Given the description of an element on the screen output the (x, y) to click on. 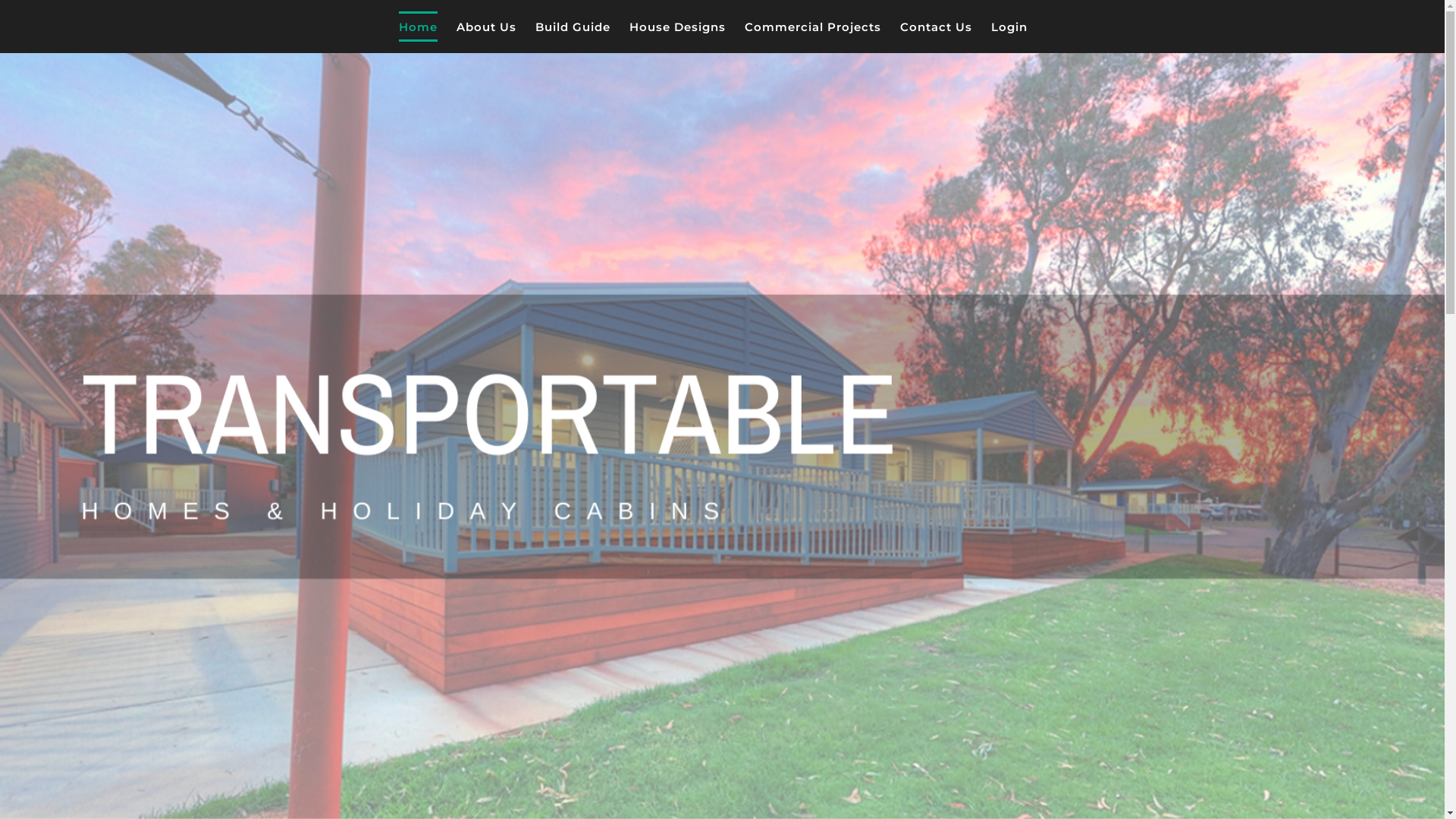
Login Element type: text (1008, 26)
Build Guide Element type: text (572, 26)
About Us Element type: text (486, 26)
Contact Us Element type: text (935, 26)
Home Element type: text (417, 26)
Commercial Projects Element type: text (812, 26)
House Designs Element type: text (677, 26)
